Given the description of an element on the screen output the (x, y) to click on. 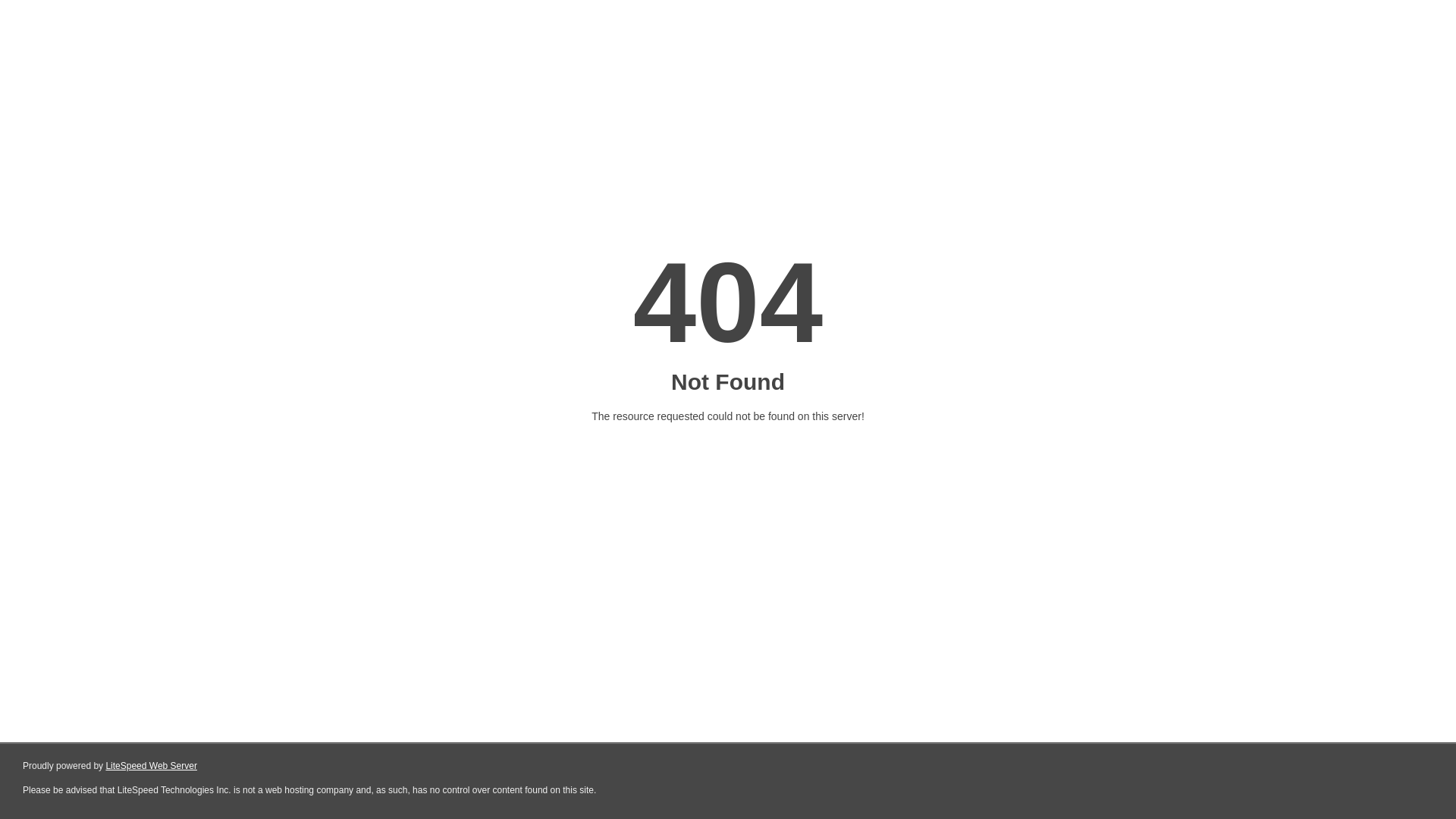
LiteSpeed Web Server Element type: text (151, 765)
